Given the description of an element on the screen output the (x, y) to click on. 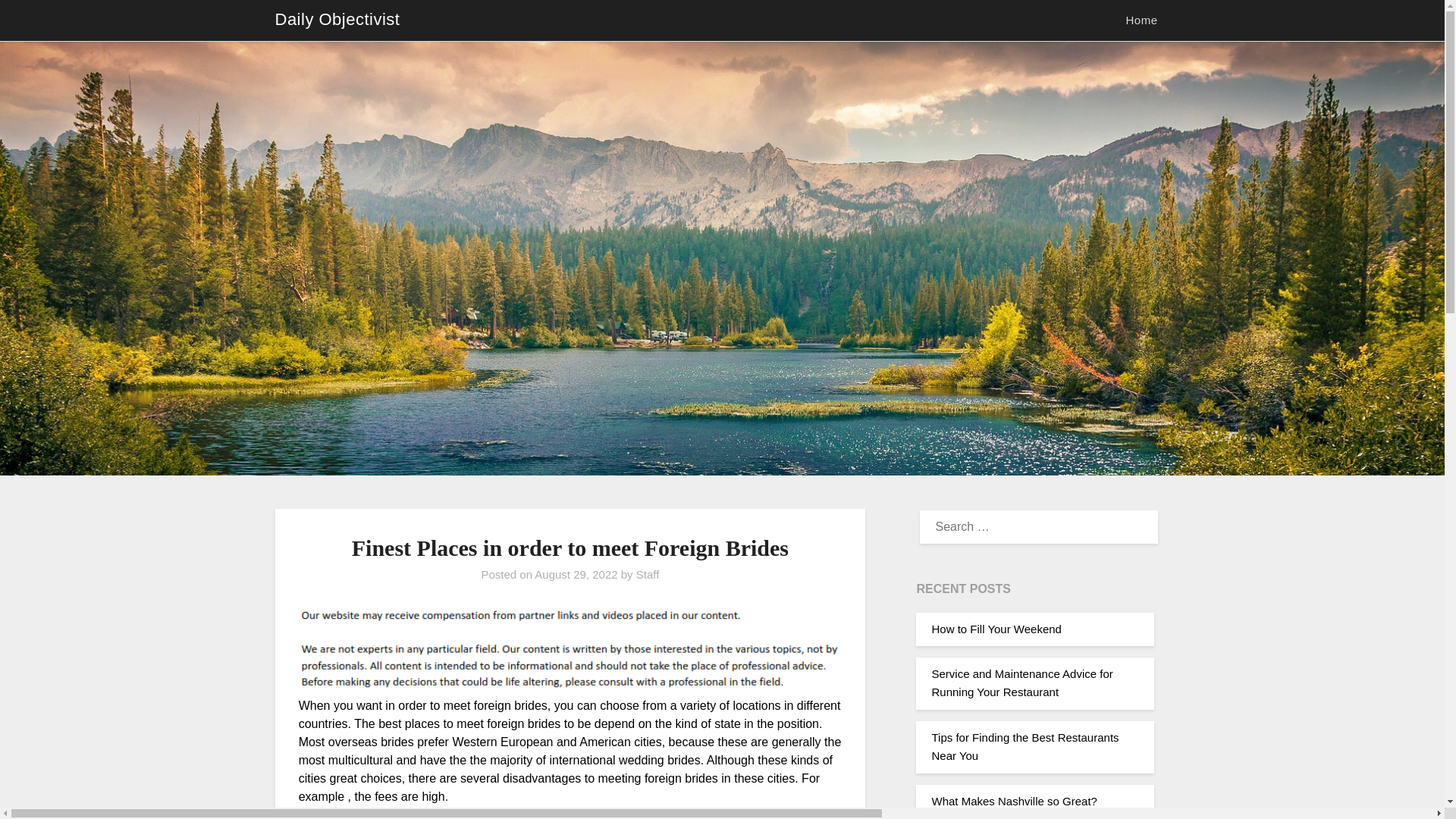
Staff (647, 574)
How to Fill Your Weekend (996, 628)
Daily Objectivist (336, 19)
August 29, 2022 (575, 574)
Home (1141, 20)
Service and Maintenance Advice for Running Your Restaurant (1021, 682)
Tips for Finding the Best Restaurants Near You (1024, 746)
Search (38, 22)
What Makes Nashville so Great? (1013, 800)
